Given the description of an element on the screen output the (x, y) to click on. 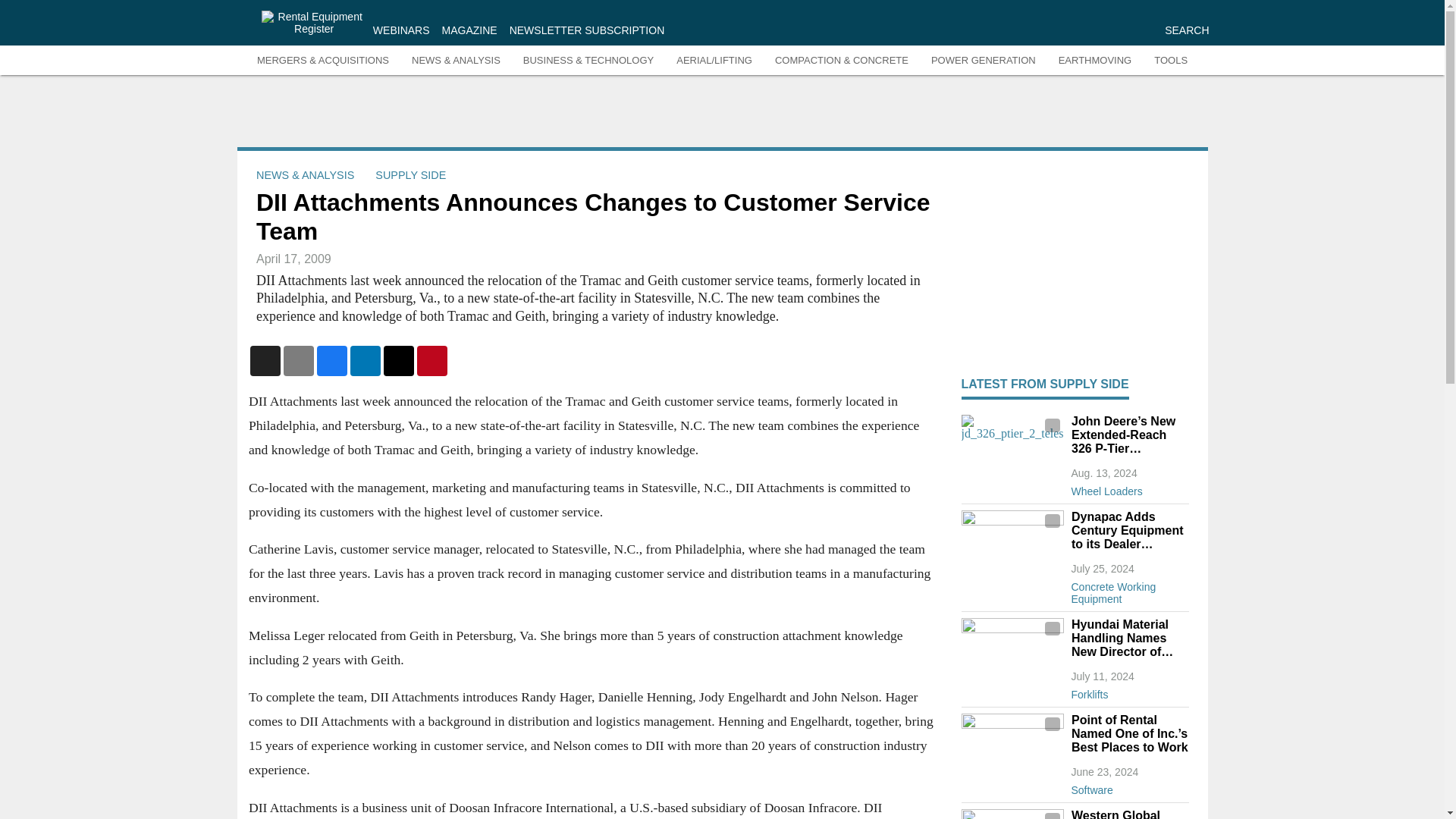
TOOLS (1171, 60)
SUPPLY SIDE (410, 174)
POWER GENERATION (983, 60)
SEARCH (1186, 30)
Dynapac Adds Century Equipment to its Dealer Network (1129, 530)
EARTHMOVING (1095, 60)
WEBINARS (400, 30)
Software (1129, 787)
Concrete Working Equipment (1129, 589)
